Given the description of an element on the screen output the (x, y) to click on. 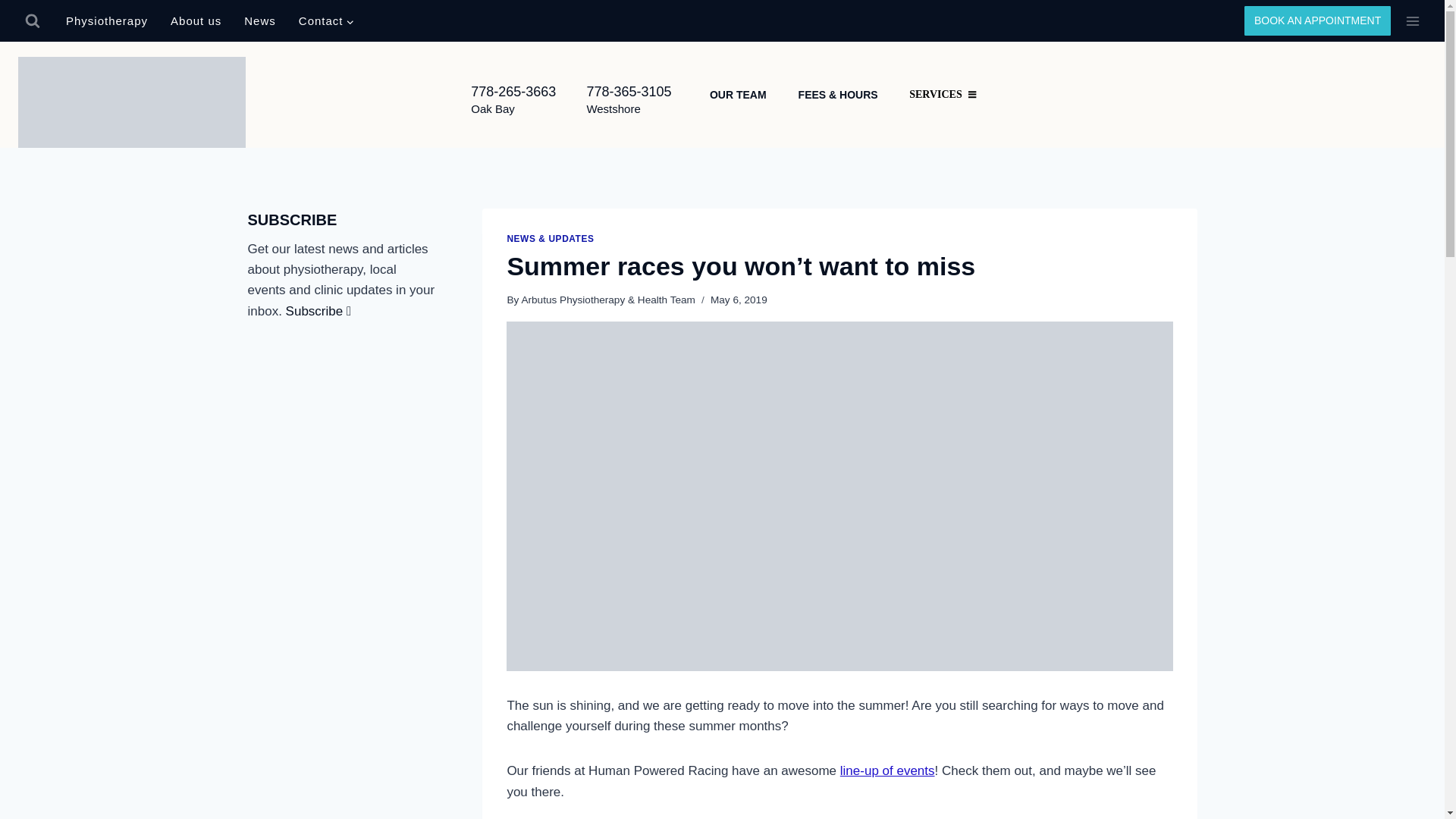
BOOK AN APPOINTMENT (1317, 20)
778-265-3663 (513, 91)
Oak Bay (492, 107)
SERVICES (943, 94)
OUR TEAM (738, 93)
About us (195, 20)
778-365-3105 (628, 91)
Physiotherapy (106, 20)
News (259, 20)
Contact (326, 20)
